Given the description of an element on the screen output the (x, y) to click on. 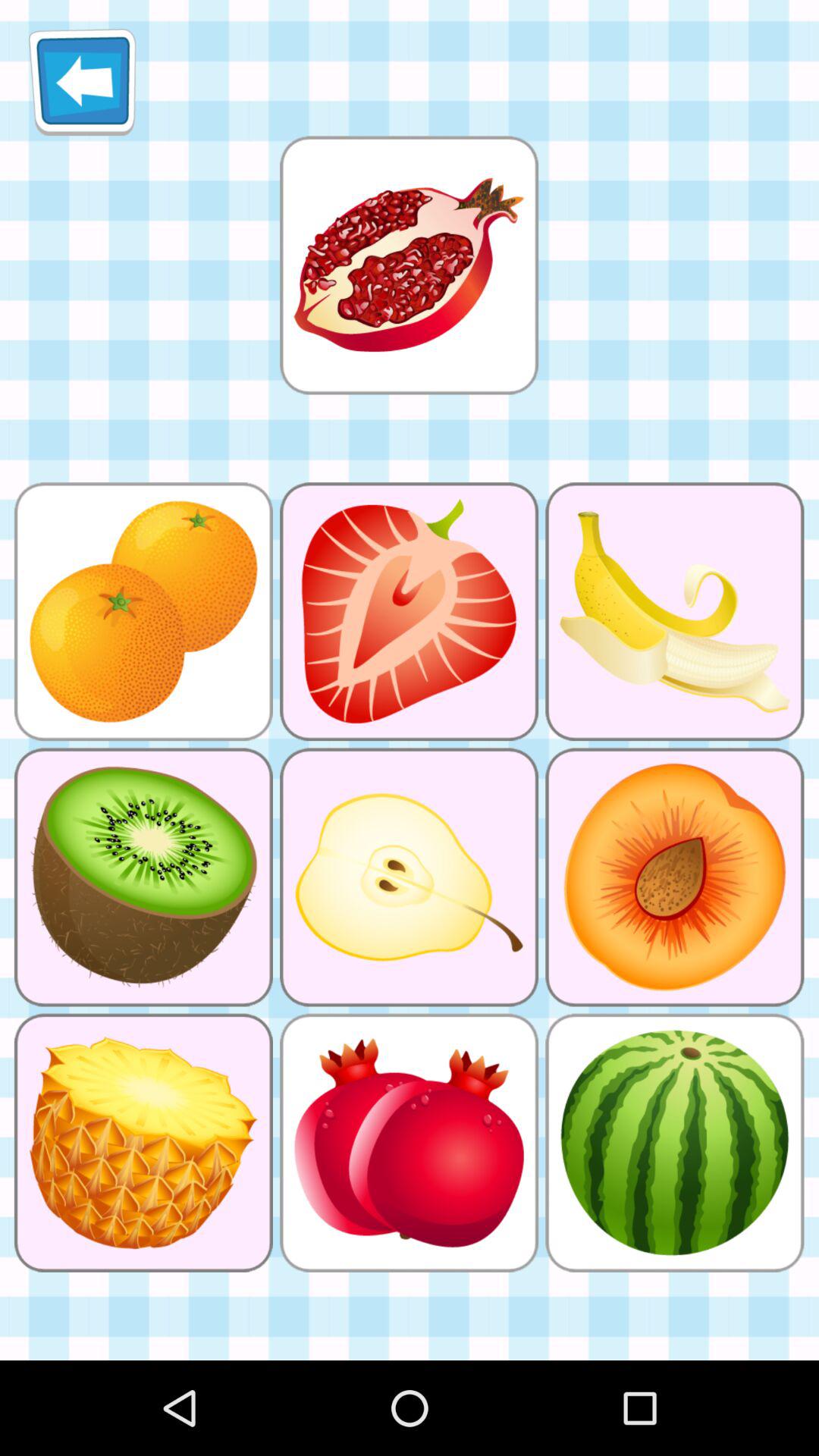
fruit (409, 265)
